Given the description of an element on the screen output the (x, y) to click on. 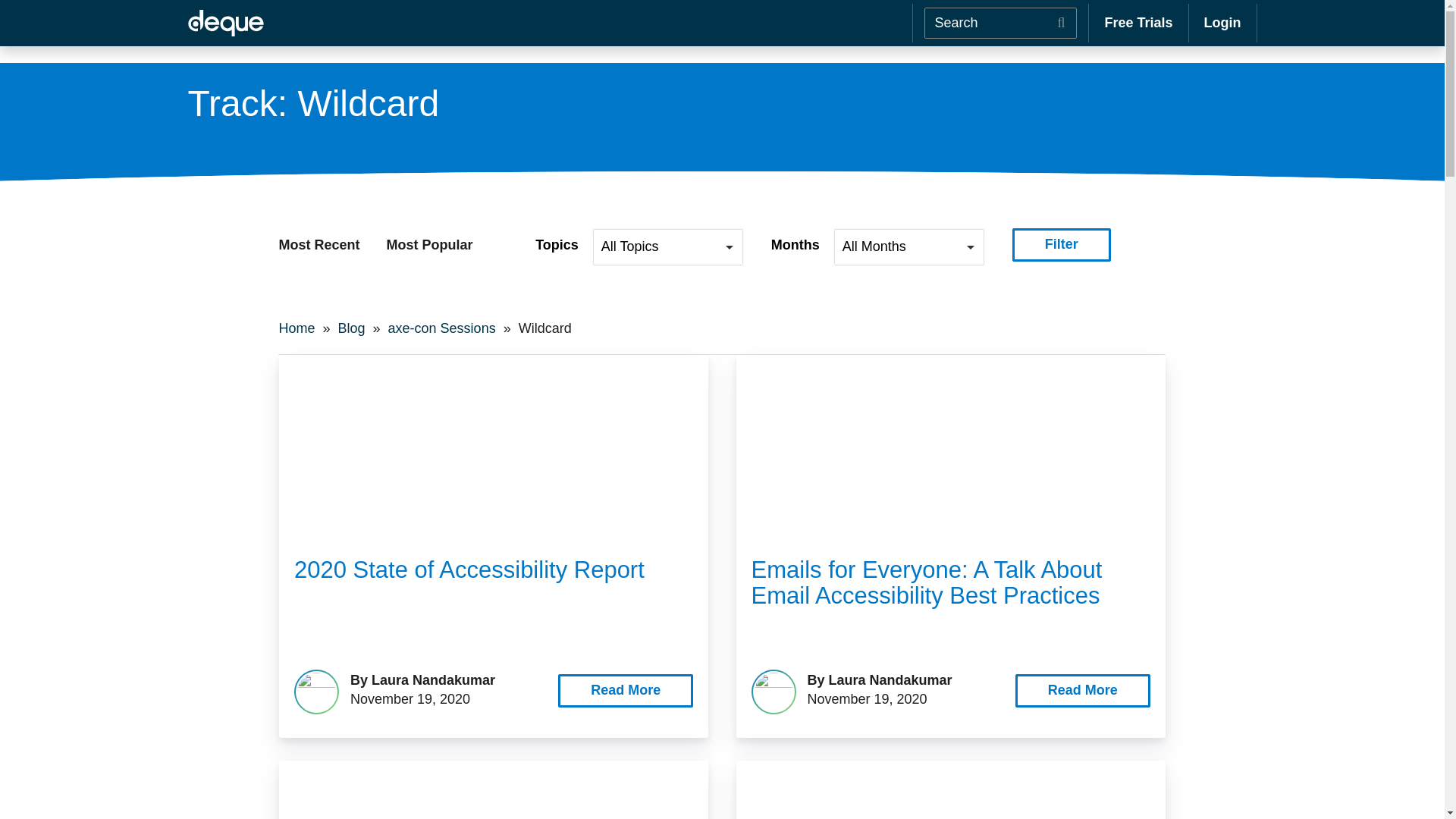
Submit (1060, 23)
Resources (543, 19)
Free Trials (1138, 23)
Free trial of axe DevTools Pro (1138, 23)
Sign in to Deque products (1222, 23)
Login (1222, 23)
Tools (207, 19)
Deque (225, 23)
Solutions (447, 19)
